Given the description of an element on the screen output the (x, y) to click on. 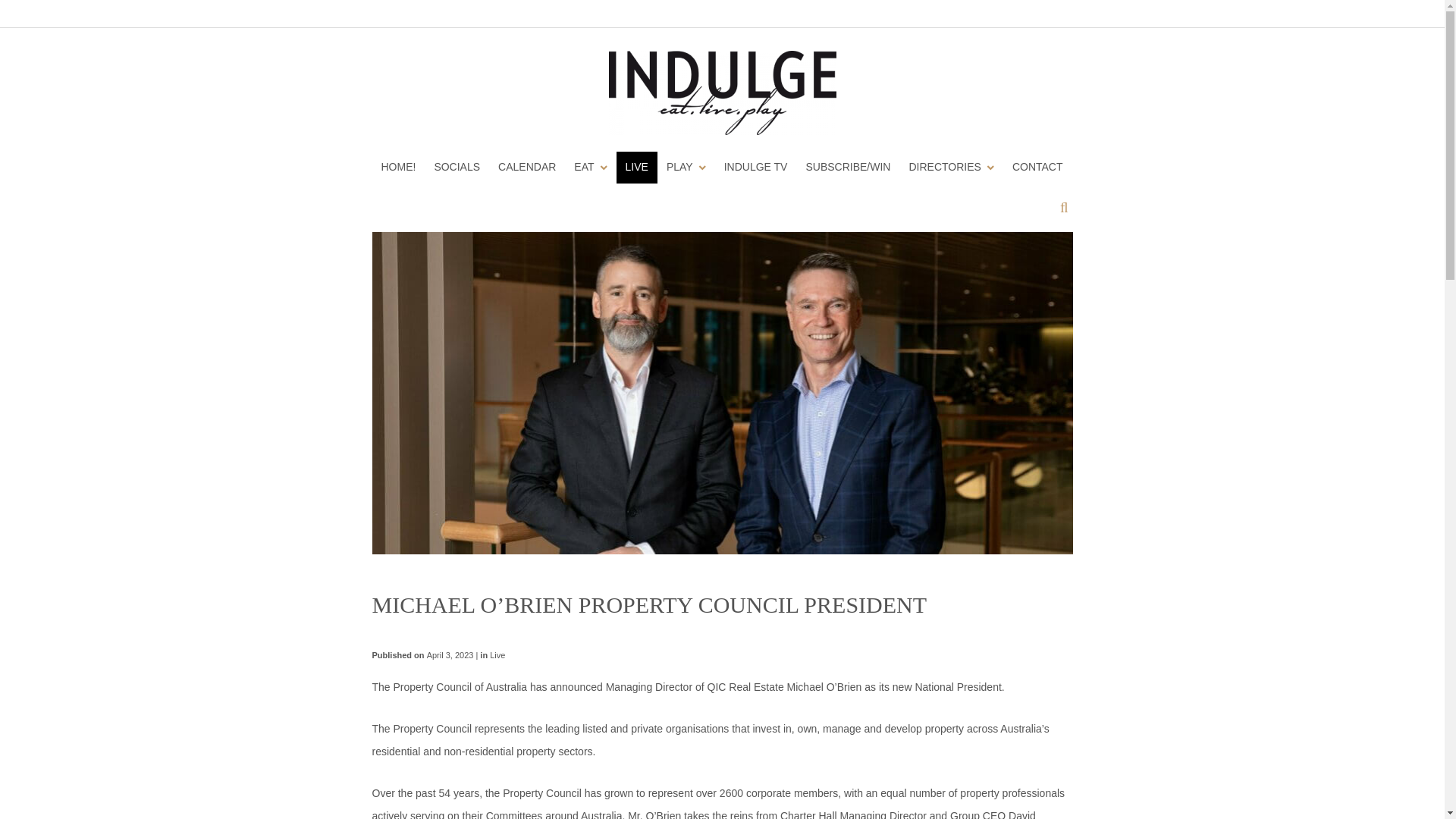
CONTACT (1037, 167)
INDULGE TV (755, 167)
HOME! (398, 167)
Indulge Magazine (721, 92)
SOCIALS (457, 167)
LIVE (636, 167)
CALENDAR (526, 167)
